Given the description of an element on the screen output the (x, y) to click on. 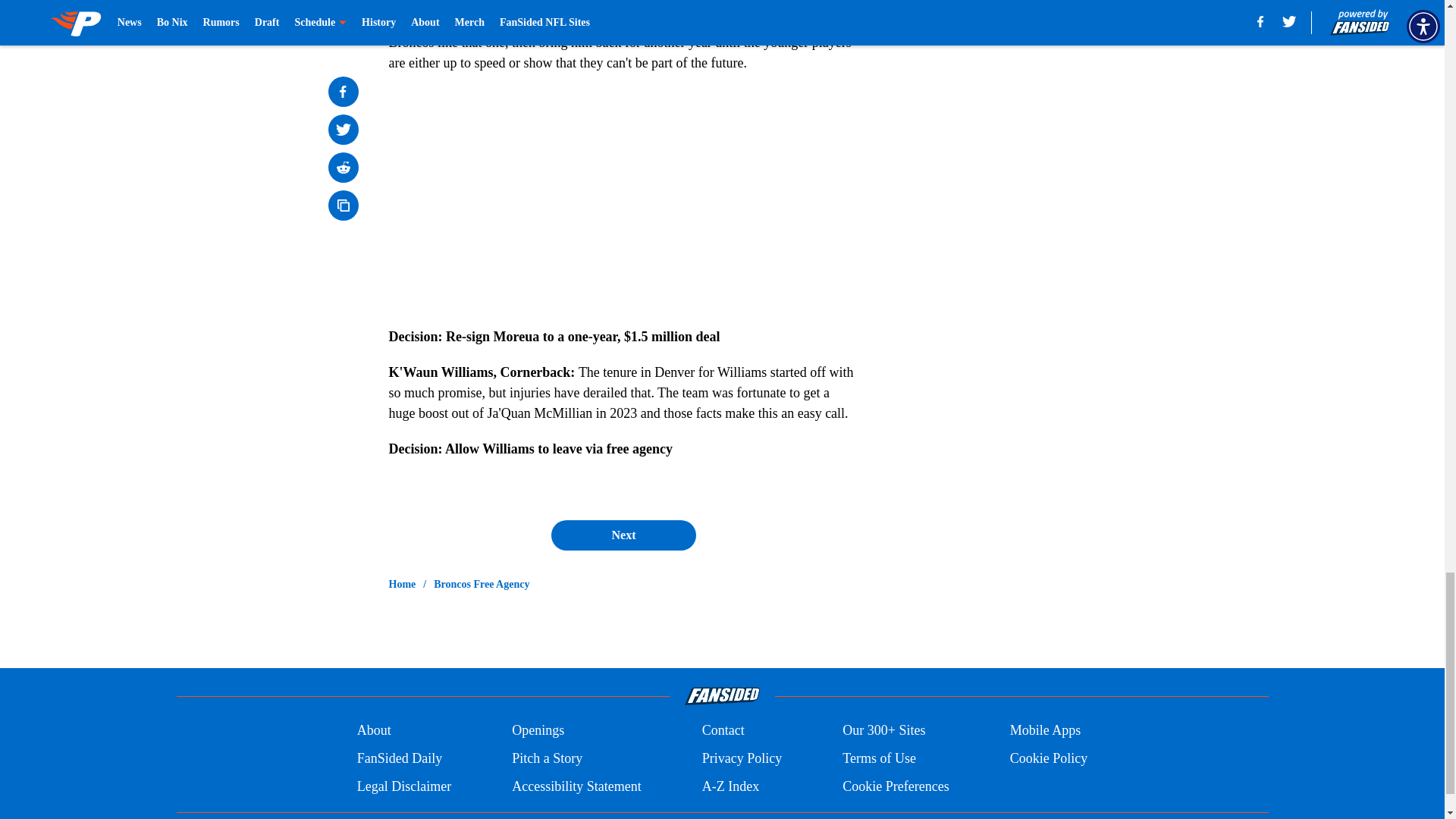
FanSided Daily (399, 758)
Privacy Policy (742, 758)
Mobile Apps (1045, 730)
Broncos Free Agency (481, 584)
About (373, 730)
Home (401, 584)
Openings (538, 730)
Next (622, 535)
Contact (722, 730)
Terms of Use (879, 758)
